Given the description of an element on the screen output the (x, y) to click on. 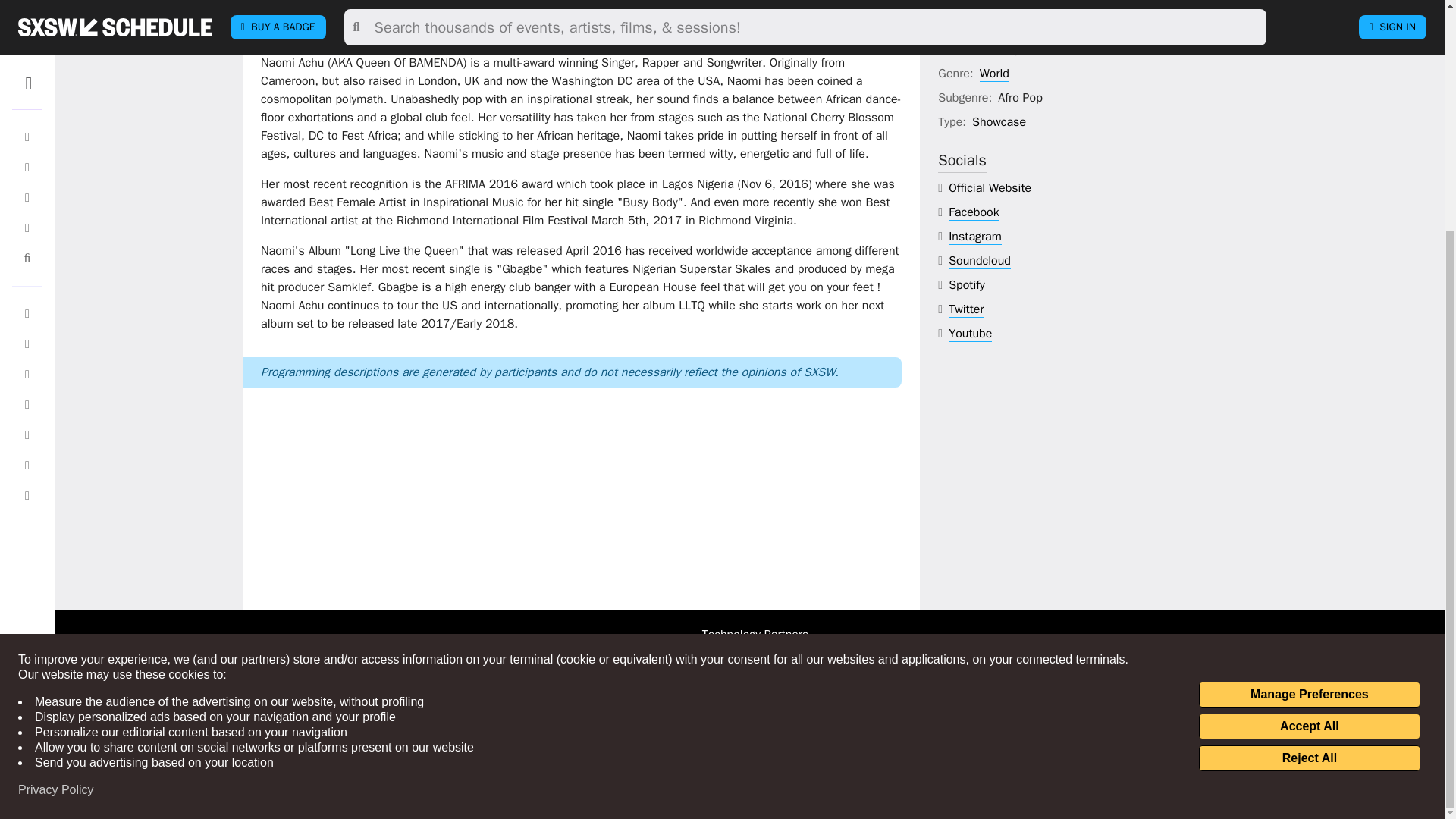
facebook (973, 212)
Accept All (1309, 413)
Manage Preferences (1309, 381)
twitter (966, 309)
instagram (975, 236)
Privacy Policy (55, 477)
website (989, 188)
soundcloud (979, 261)
spotify (967, 285)
Reject All (1309, 445)
youtube (970, 333)
